Given the description of an element on the screen output the (x, y) to click on. 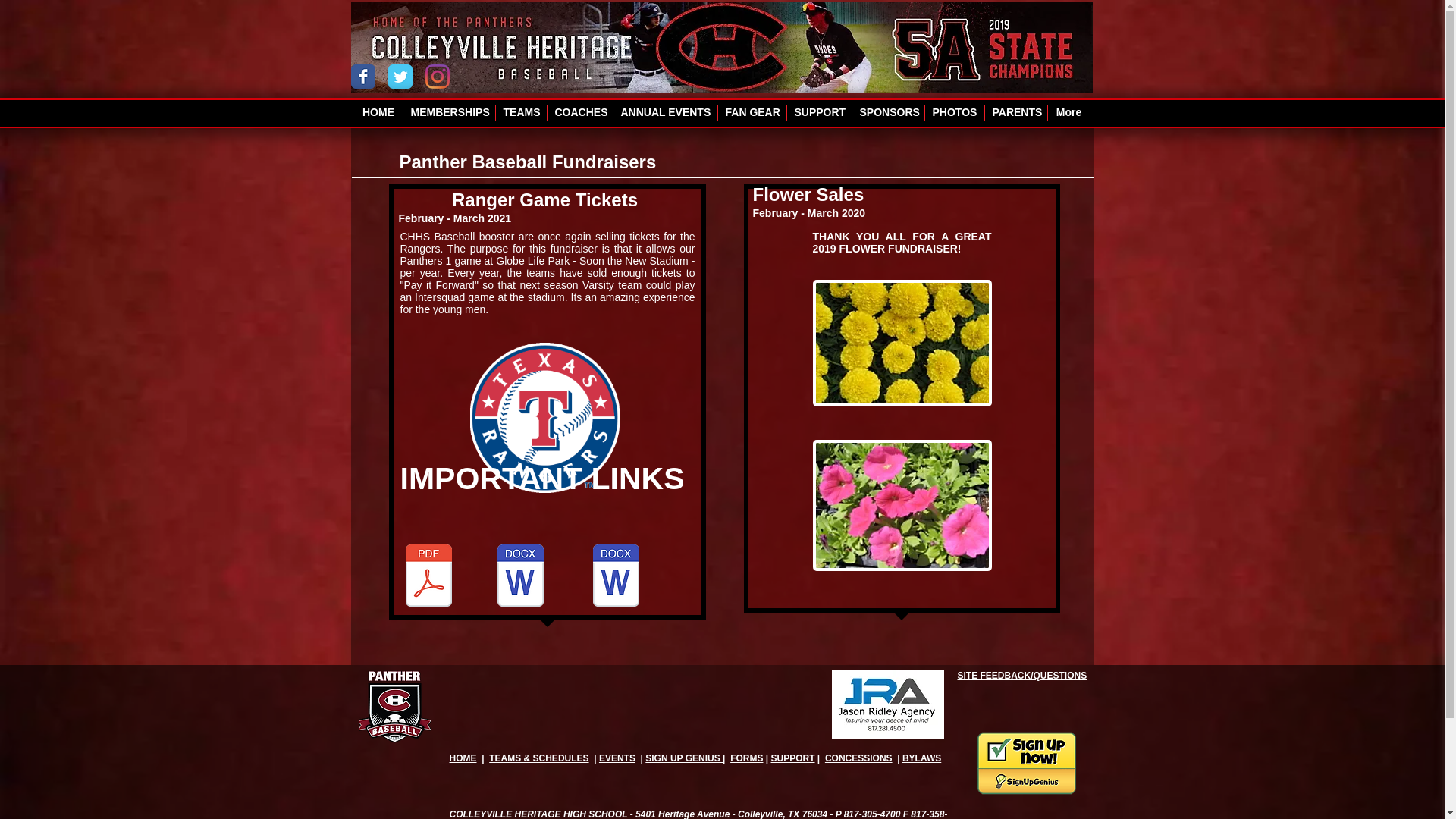
SUPPORT (819, 112)
FAN GEAR (751, 112)
SPONSORS (887, 112)
FORMS (746, 757)
ANNUAL EVENTS (664, 112)
SUPPORT (791, 757)
HOME (462, 757)
BYLAWS (921, 757)
CONCESSIONS (858, 757)
EVENTS (616, 757)
